Given the description of an element on the screen output the (x, y) to click on. 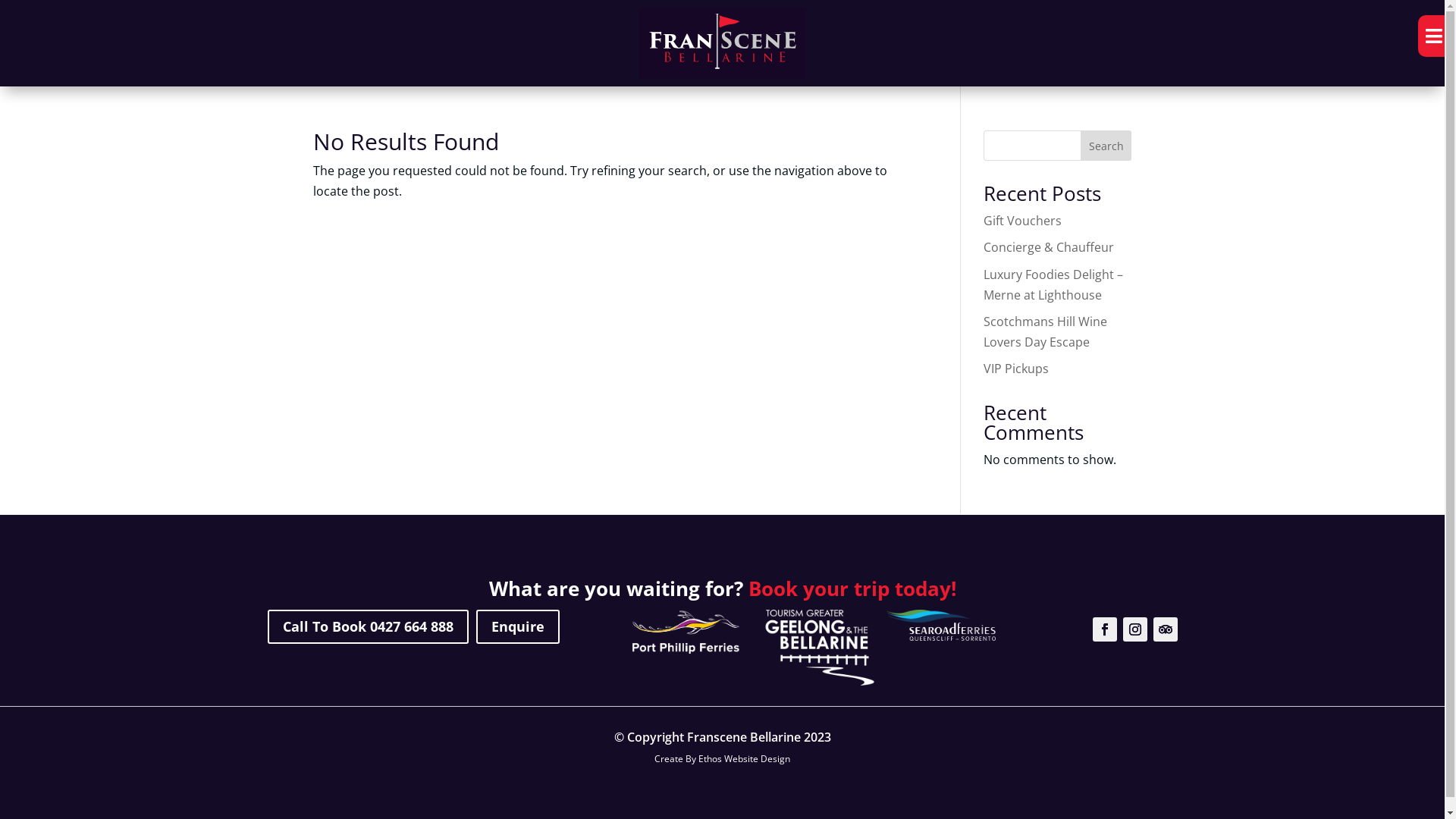
Port Philip Ferries Element type: hover (685, 631)
Searoad Ferries Logo Element type: hover (940, 625)
Ethos Website Design Element type: text (744, 758)
Concierge & Chauffeur Element type: text (1048, 246)
Follow on Facebook Element type: hover (1104, 629)
Tourism Greater Geelong Logo Element type: hover (820, 647)
Gift Vouchers Element type: text (1022, 220)
VIP Pickups Element type: text (1015, 368)
Search Element type: text (1106, 145)
Call To Book 0427 664 888 Element type: text (366, 626)
Franscene Bellarine Logo Element type: hover (721, 42)
Enquire Element type: text (517, 626)
Scotchmans Hill Wine Lovers Day Escape Element type: text (1045, 331)
Follow on TripAdvisor Element type: hover (1164, 629)
Follow on Instagram Element type: hover (1134, 629)
